Given the description of an element on the screen output the (x, y) to click on. 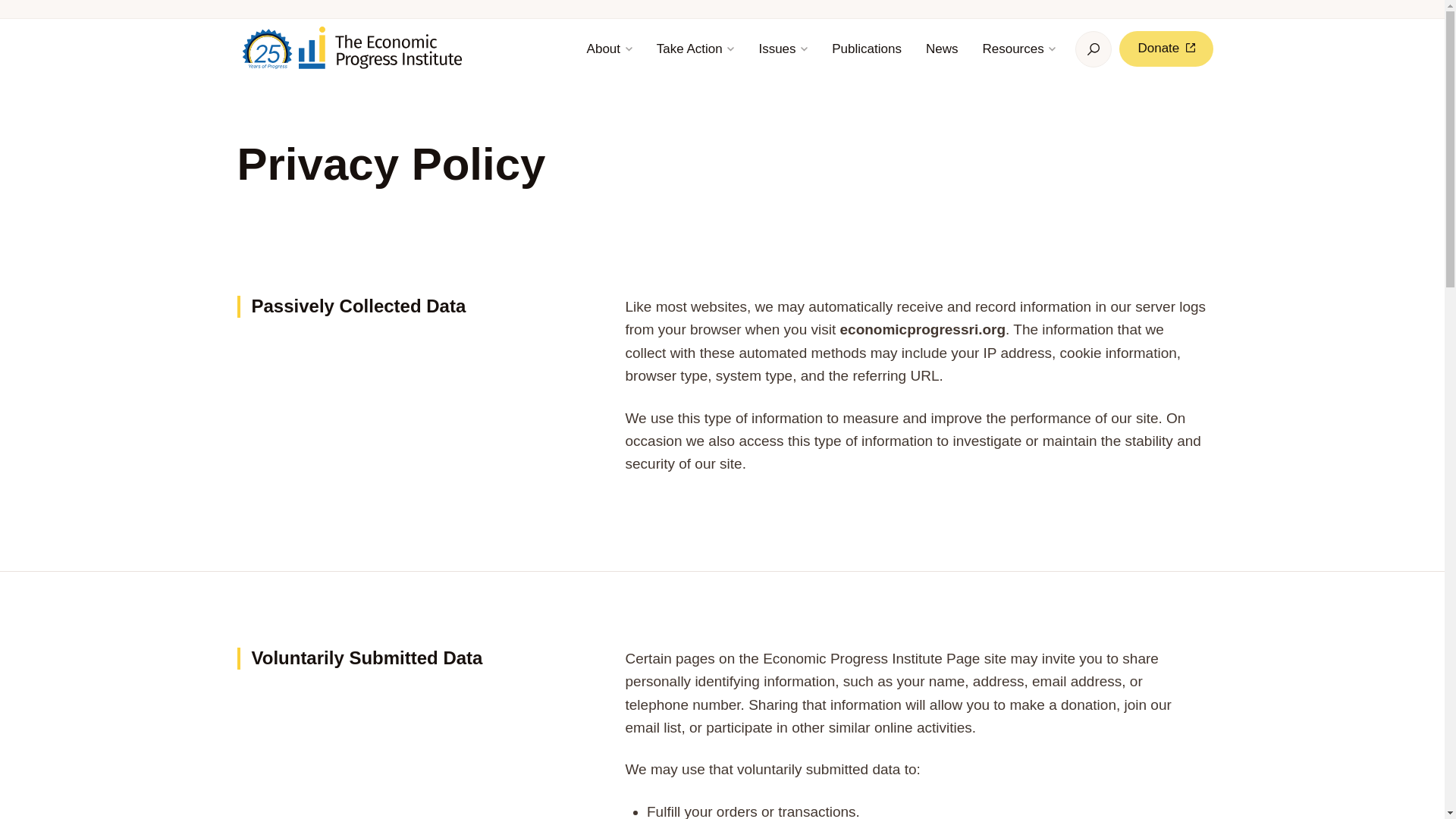
Issues (783, 48)
Donate (1165, 48)
Take Action (695, 48)
Publications (865, 48)
News (941, 48)
About (609, 48)
Resources (1018, 48)
